Given the description of an element on the screen output the (x, y) to click on. 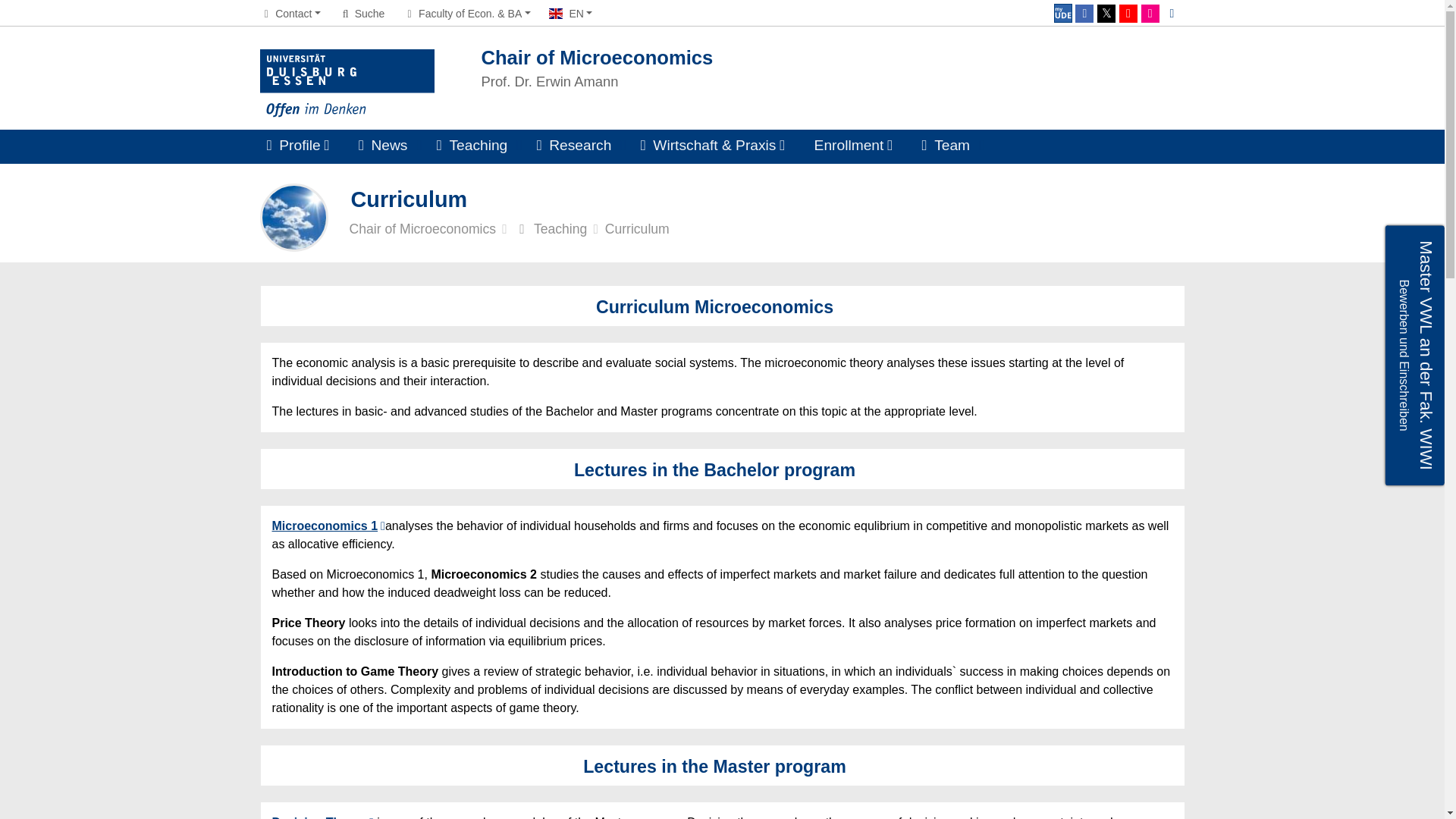
Teaching (472, 146)
Twitter (1106, 13)
Visit the main page of the University of Duisburg-Essen (346, 83)
Profile (297, 146)
Contact (289, 13)
YouTube (1128, 13)
Facebook (1084, 13)
Flickr (1149, 13)
Suche (832, 67)
EN (361, 13)
myUDE (570, 13)
News (1062, 13)
